Given the description of an element on the screen output the (x, y) to click on. 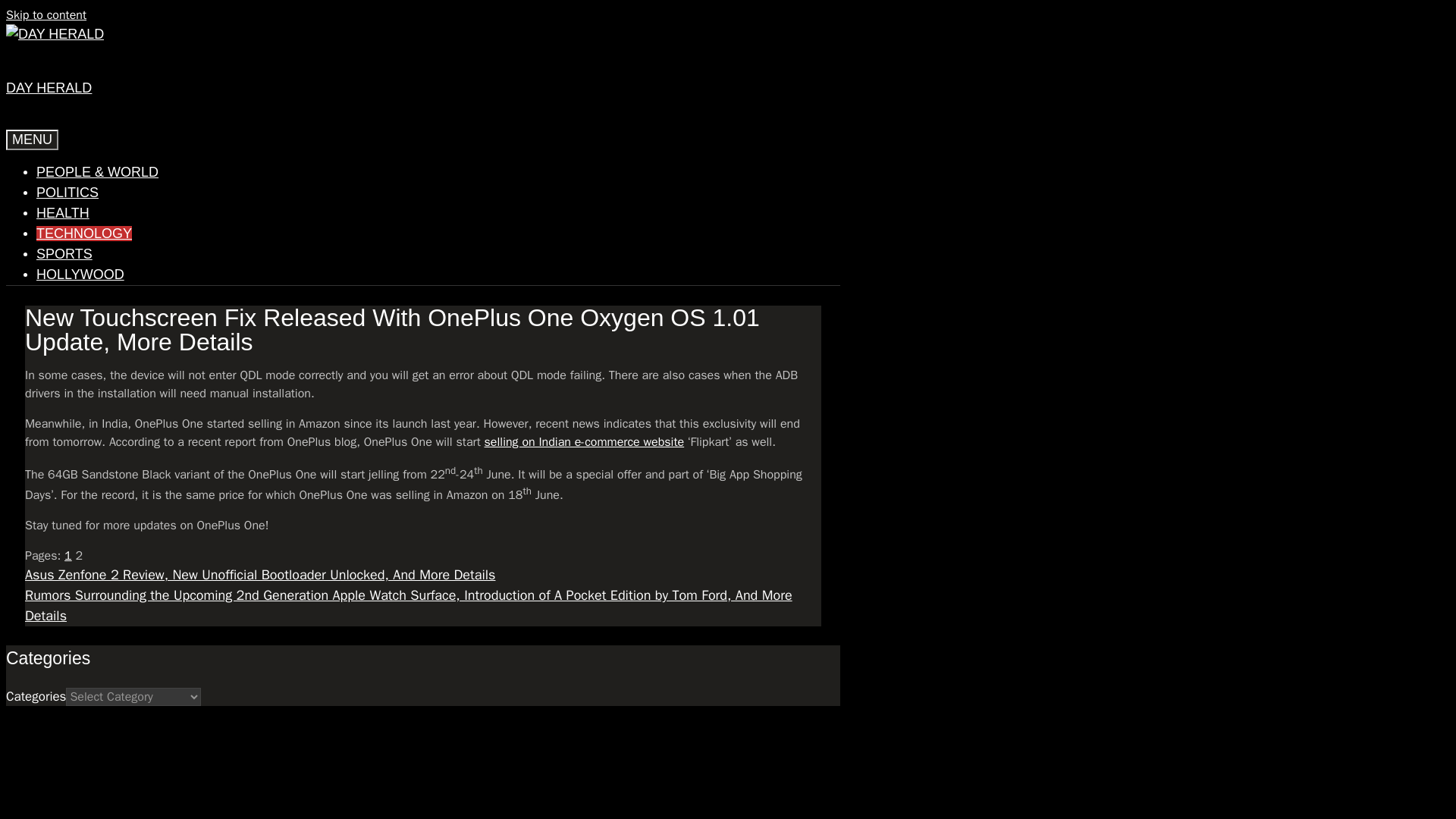
Day Herald (54, 34)
HOLLYWOOD (79, 273)
DAY HERALD (48, 87)
TECHNOLOGY (84, 233)
selling on Indian e-commerce website (584, 441)
Skip to content (45, 14)
Day Herald (54, 33)
HEALTH (62, 212)
POLITICS (67, 192)
SPORTS (64, 253)
MENU (31, 139)
Skip to content (45, 14)
